Given the description of an element on the screen output the (x, y) to click on. 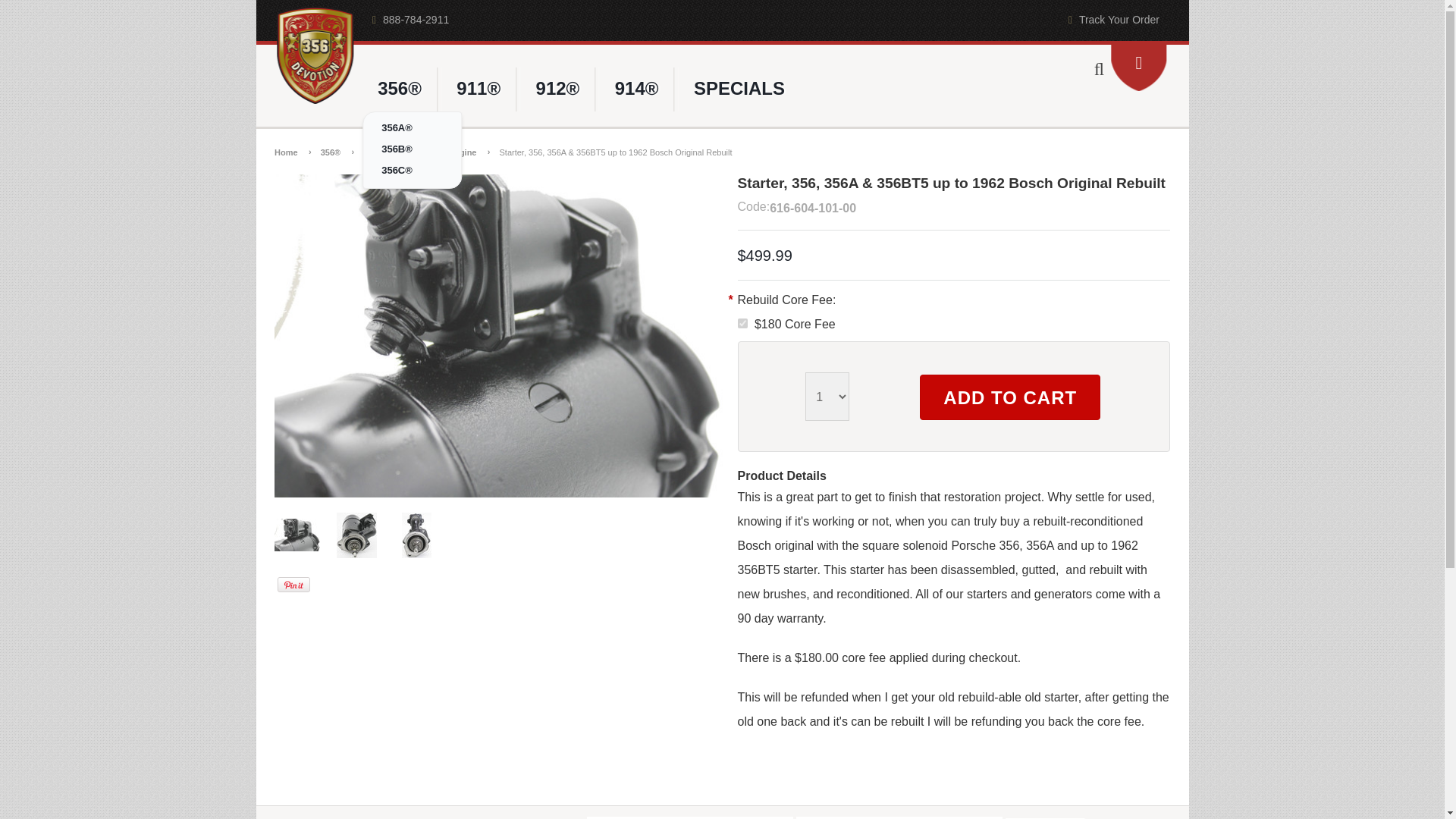
Home (293, 152)
Image 1 (297, 531)
SPECIALS (738, 89)
50 (741, 323)
Name (689, 817)
888-784-2911 (408, 20)
